Given the description of an element on the screen output the (x, y) to click on. 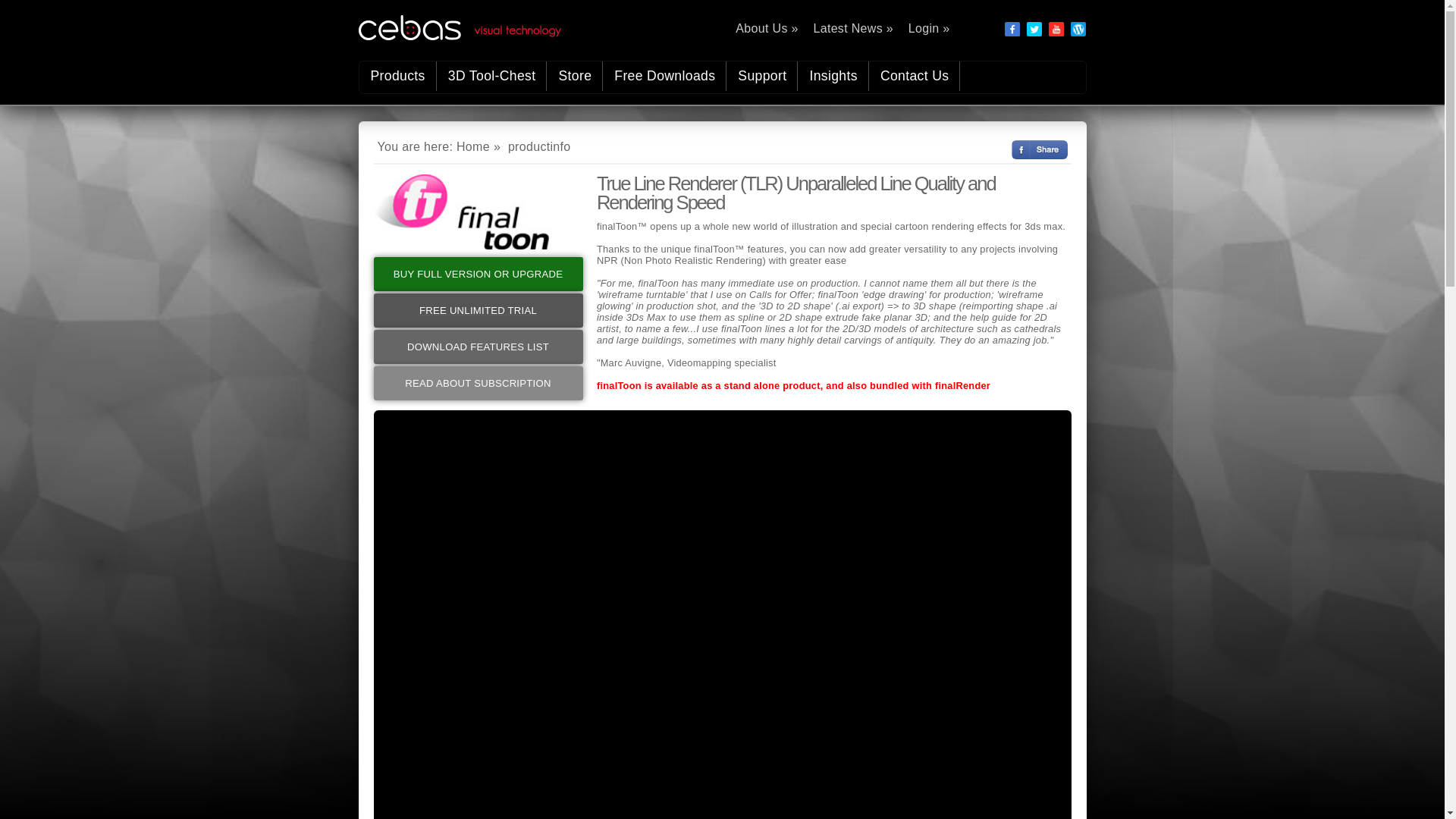
You need to be a registered user to get free Trials (477, 310)
social item (1077, 29)
social item (1012, 29)
Home (473, 146)
Insights (832, 75)
Contact Us (914, 75)
Free Downloads (664, 75)
Store (574, 75)
productinfo (539, 146)
social item (1056, 29)
social item (1034, 29)
3D Tool-Chest (491, 75)
Support (761, 75)
Products (397, 75)
